Given the description of an element on the screen output the (x, y) to click on. 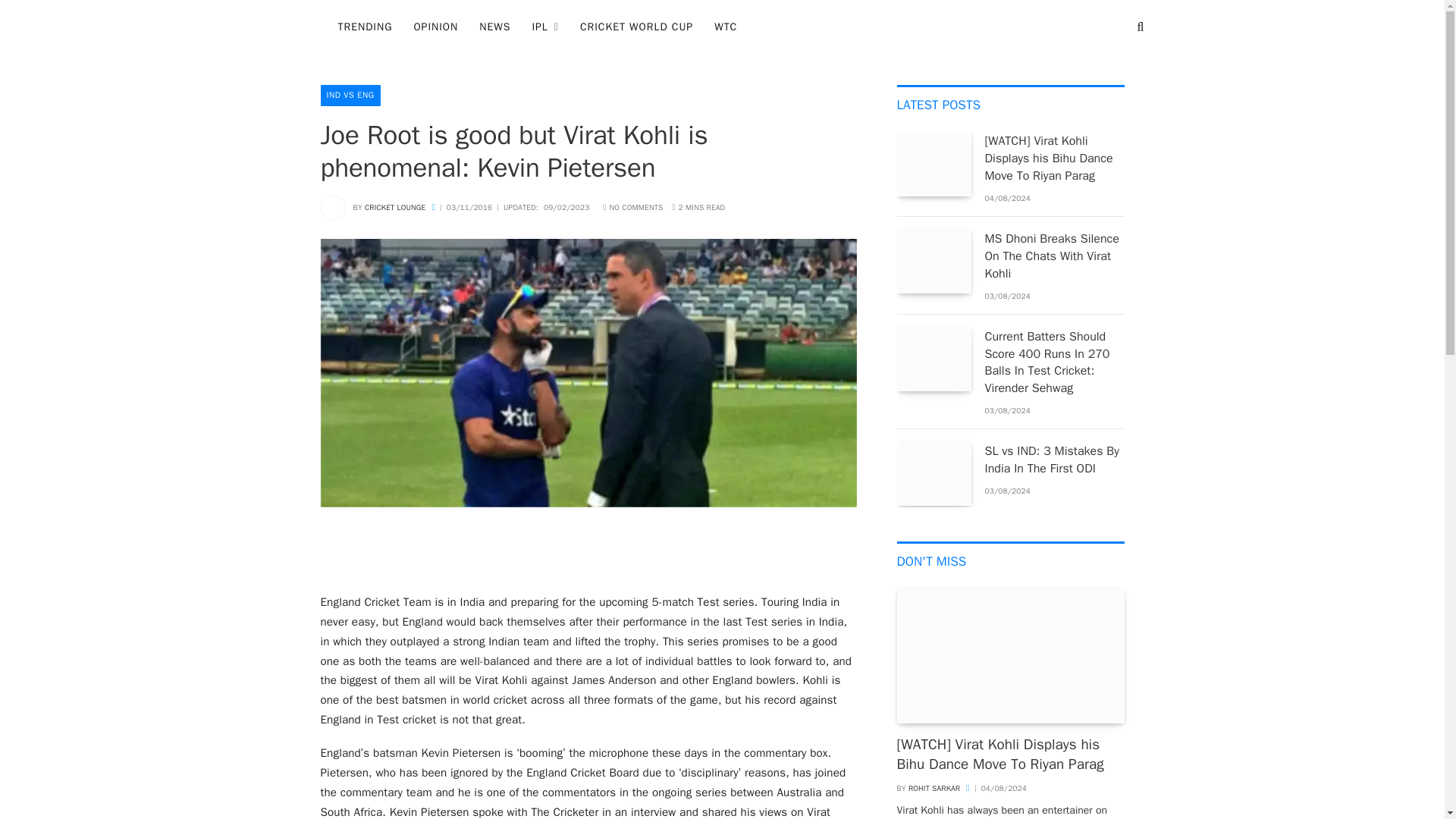
WTC (725, 27)
OPINION (435, 27)
IND VS ENG (350, 95)
NEWS (494, 27)
CRICKET WORLD CUP (636, 27)
TRENDING (365, 27)
Search (1139, 27)
SL vs IND: 3 Mistakes By India In The First ODI (1054, 460)
NO COMMENTS (632, 207)
CRICKET LOUNGE (395, 207)
Posts by Cricket Lounge (395, 207)
MS Dhoni Breaks Silence On The Chats With Virat Kohli (1054, 256)
IPL (545, 27)
